Given the description of an element on the screen output the (x, y) to click on. 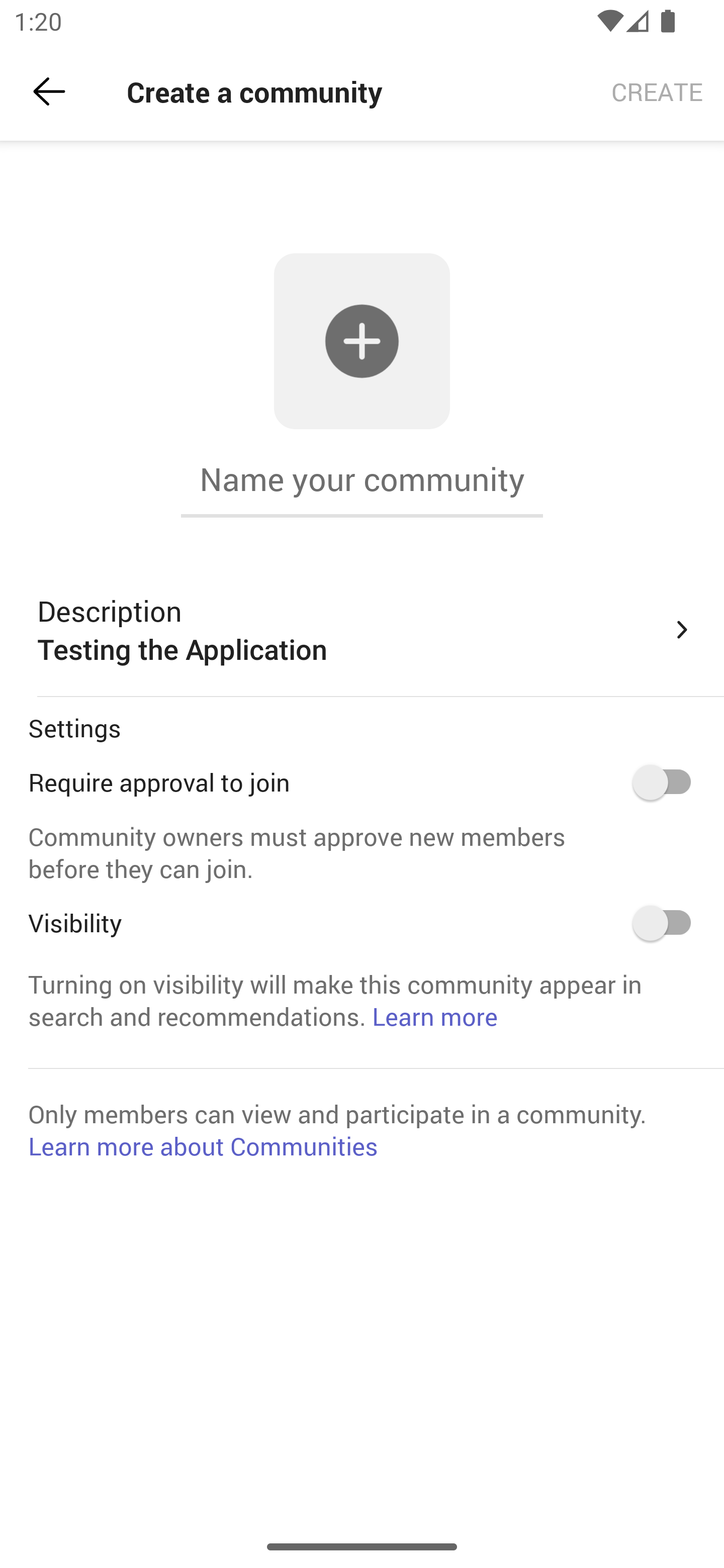
Back (49, 91)
CREATE (657, 90)
Add community image (361, 341)
Name your community (362, 478)
Description Testing the Application (366, 629)
Require approval to join (668, 781)
Visibility (668, 922)
